Given the description of an element on the screen output the (x, y) to click on. 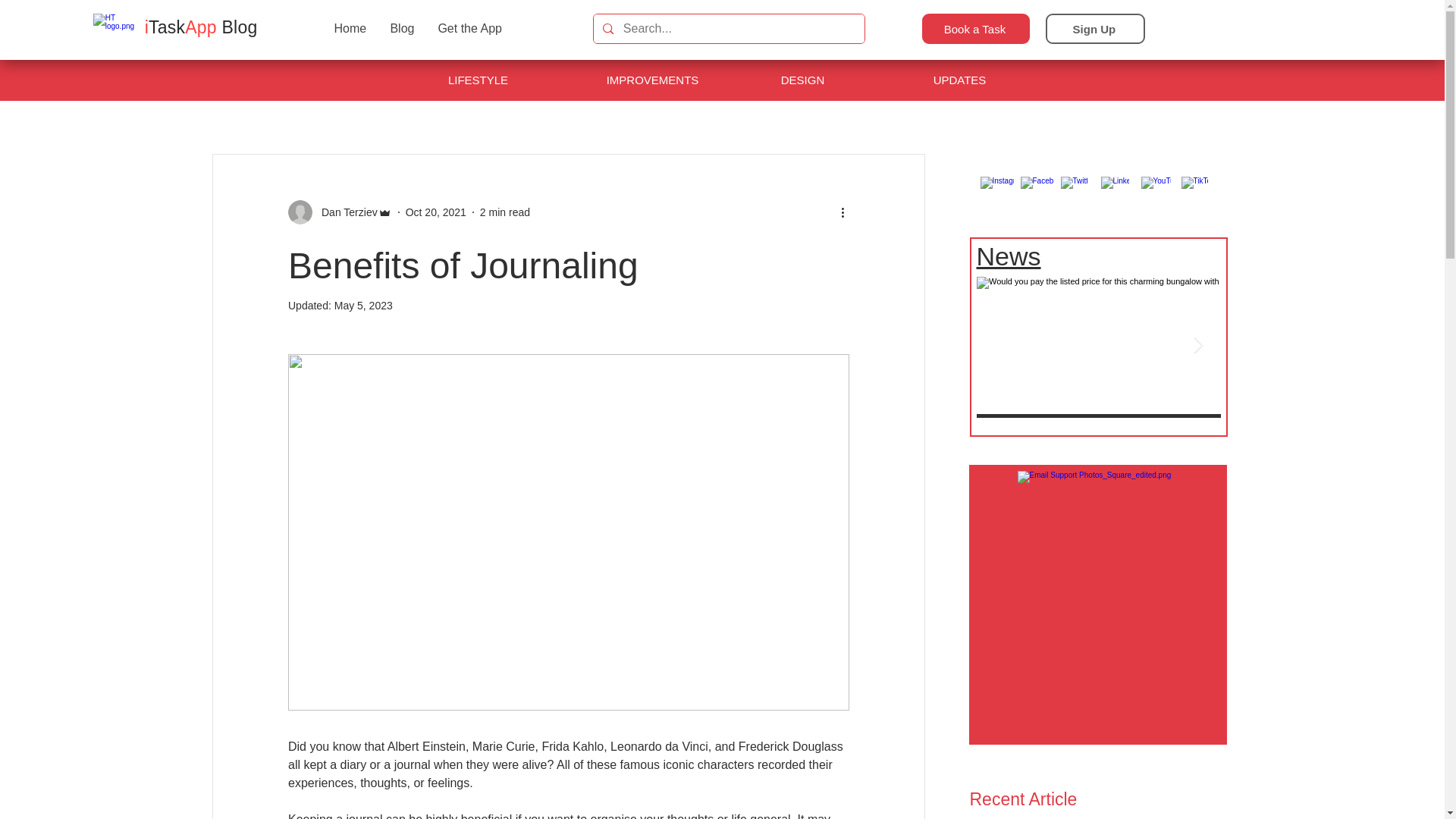
Book a Task (975, 28)
HT logo.png (119, 28)
Dan Terziev (345, 212)
UPDATES (960, 80)
2 min read (504, 212)
Home (349, 29)
LIFESTYLE (480, 80)
Blog (401, 29)
Sign Up (1094, 28)
Get the App (469, 29)
